Given the description of an element on the screen output the (x, y) to click on. 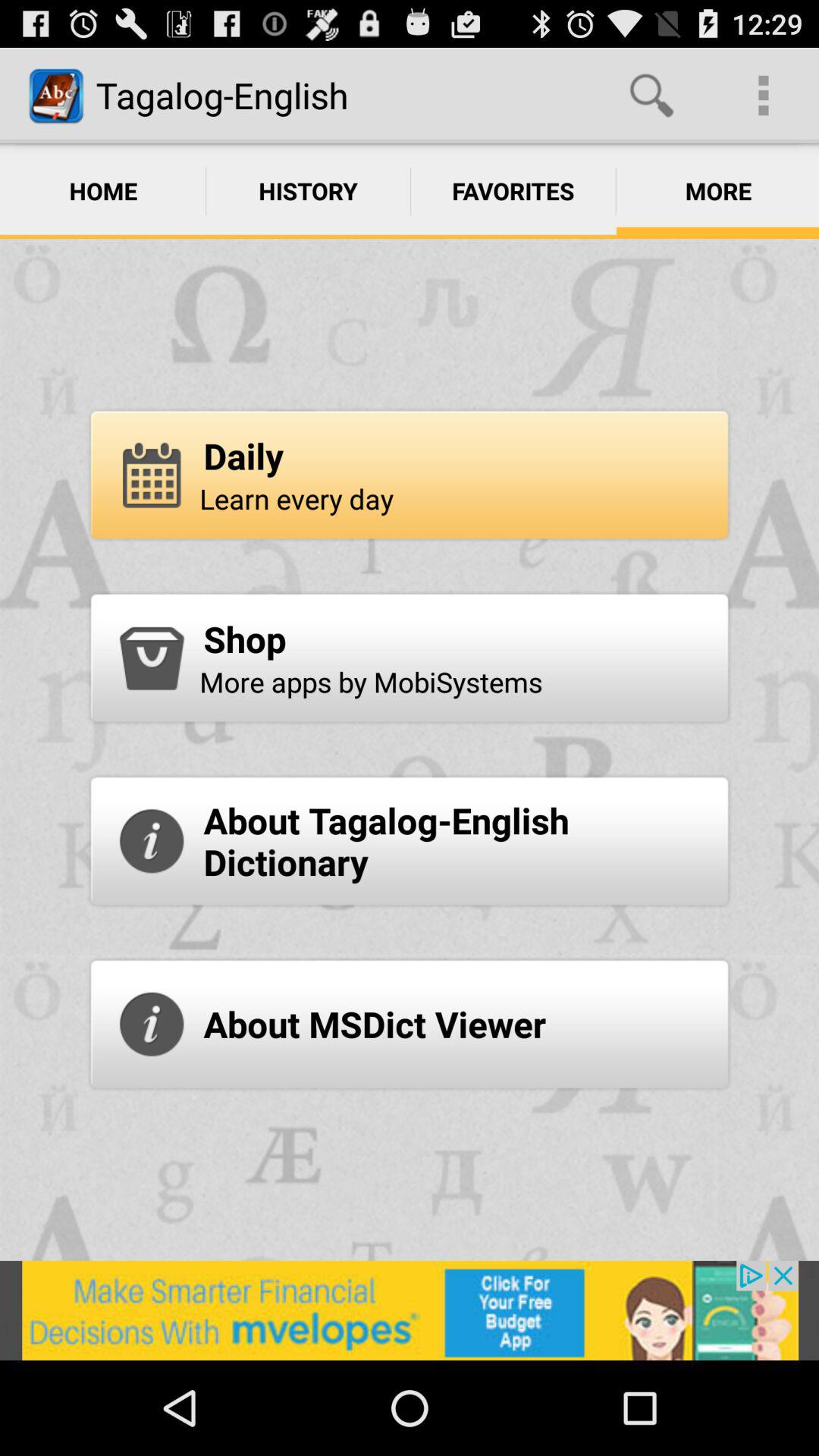
visit the advertisement site (409, 1310)
